Given the description of an element on the screen output the (x, y) to click on. 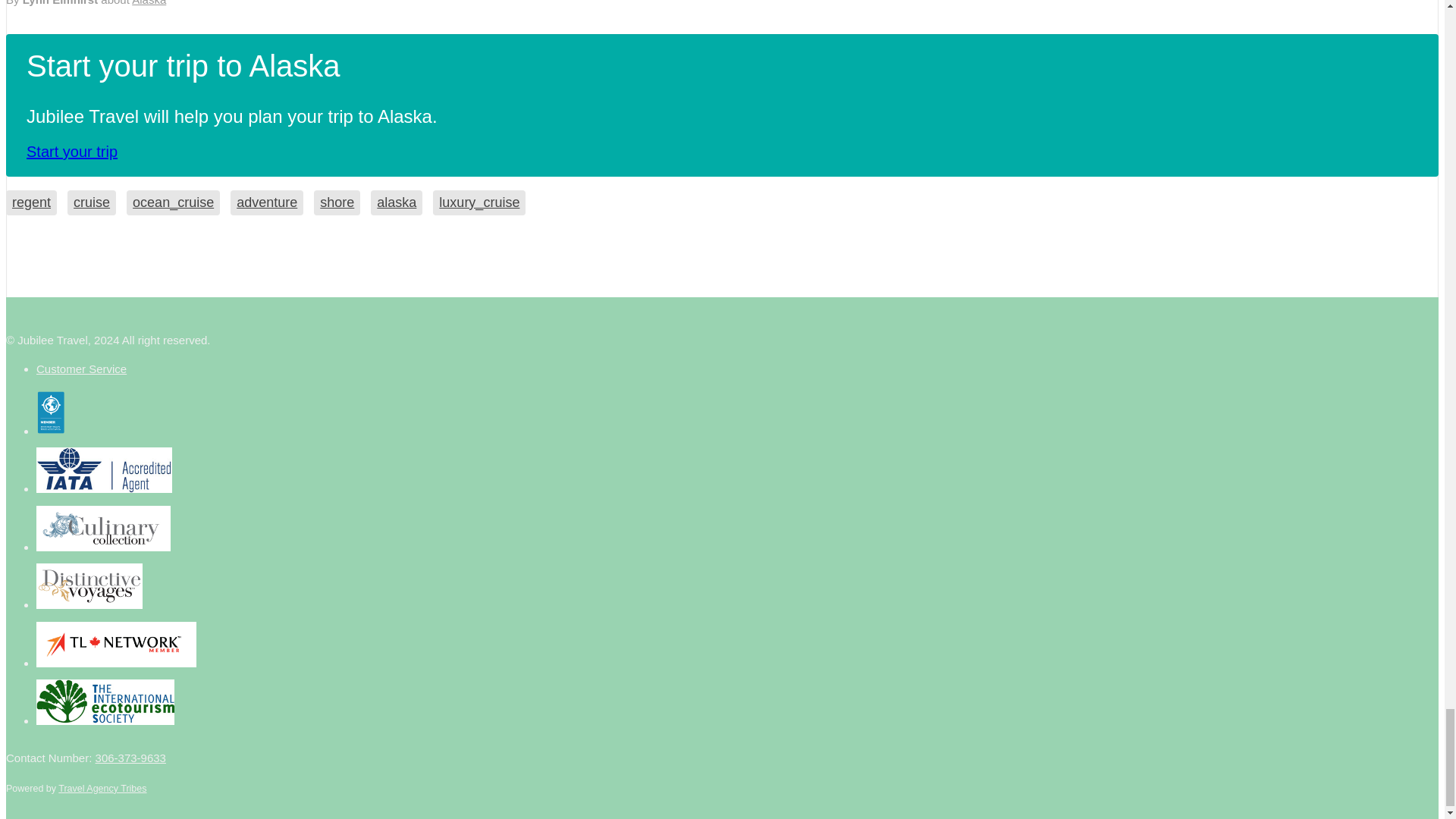
regent (30, 202)
shore (336, 202)
adventure (266, 202)
ATTA Member (103, 528)
Alaska (148, 2)
TIES Member (105, 701)
cruise (91, 202)
IATA (89, 586)
IATA (103, 470)
TIES Member (116, 644)
